Given the description of an element on the screen output the (x, y) to click on. 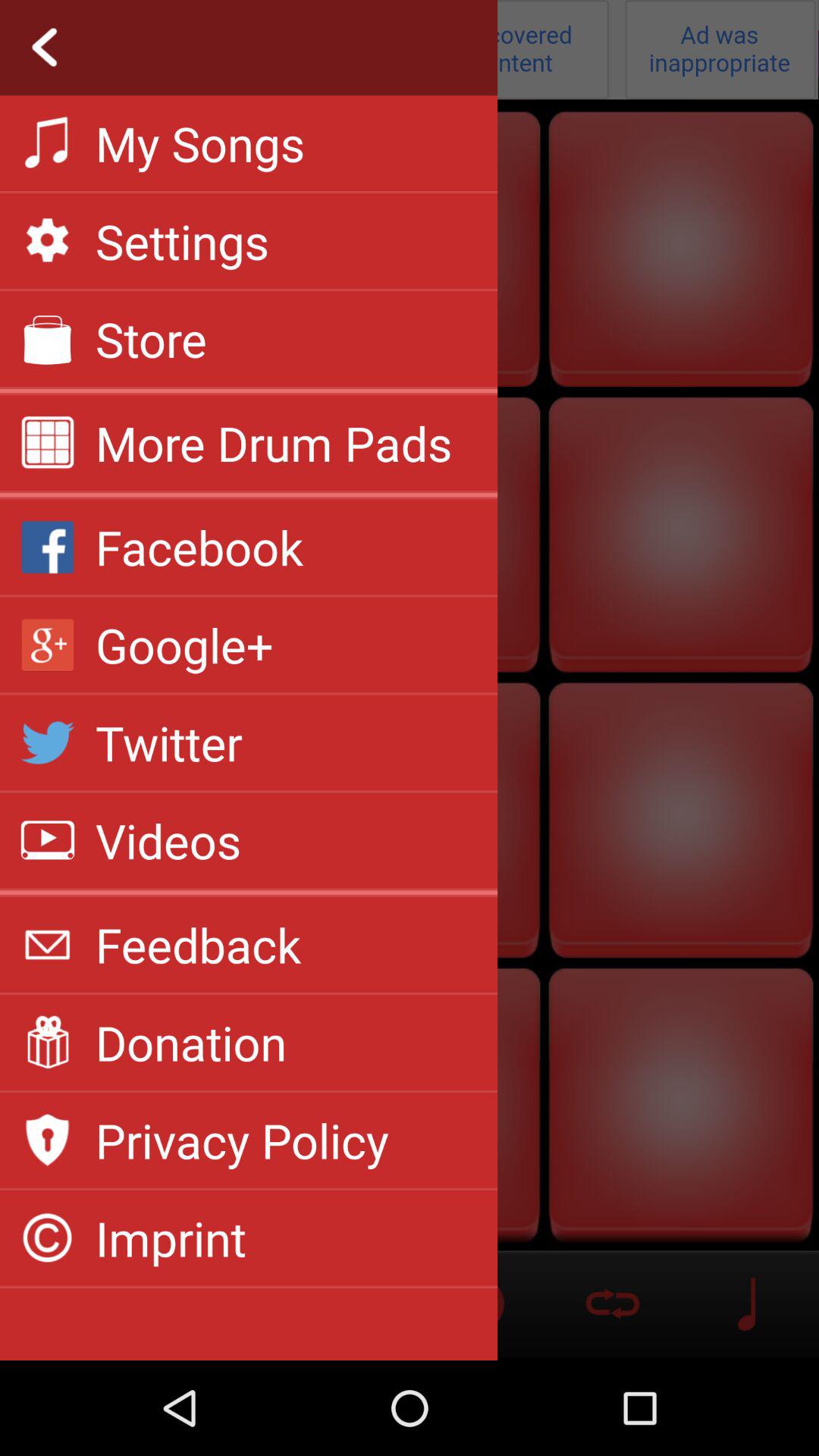
turn on facebook app (199, 546)
